Given the description of an element on the screen output the (x, y) to click on. 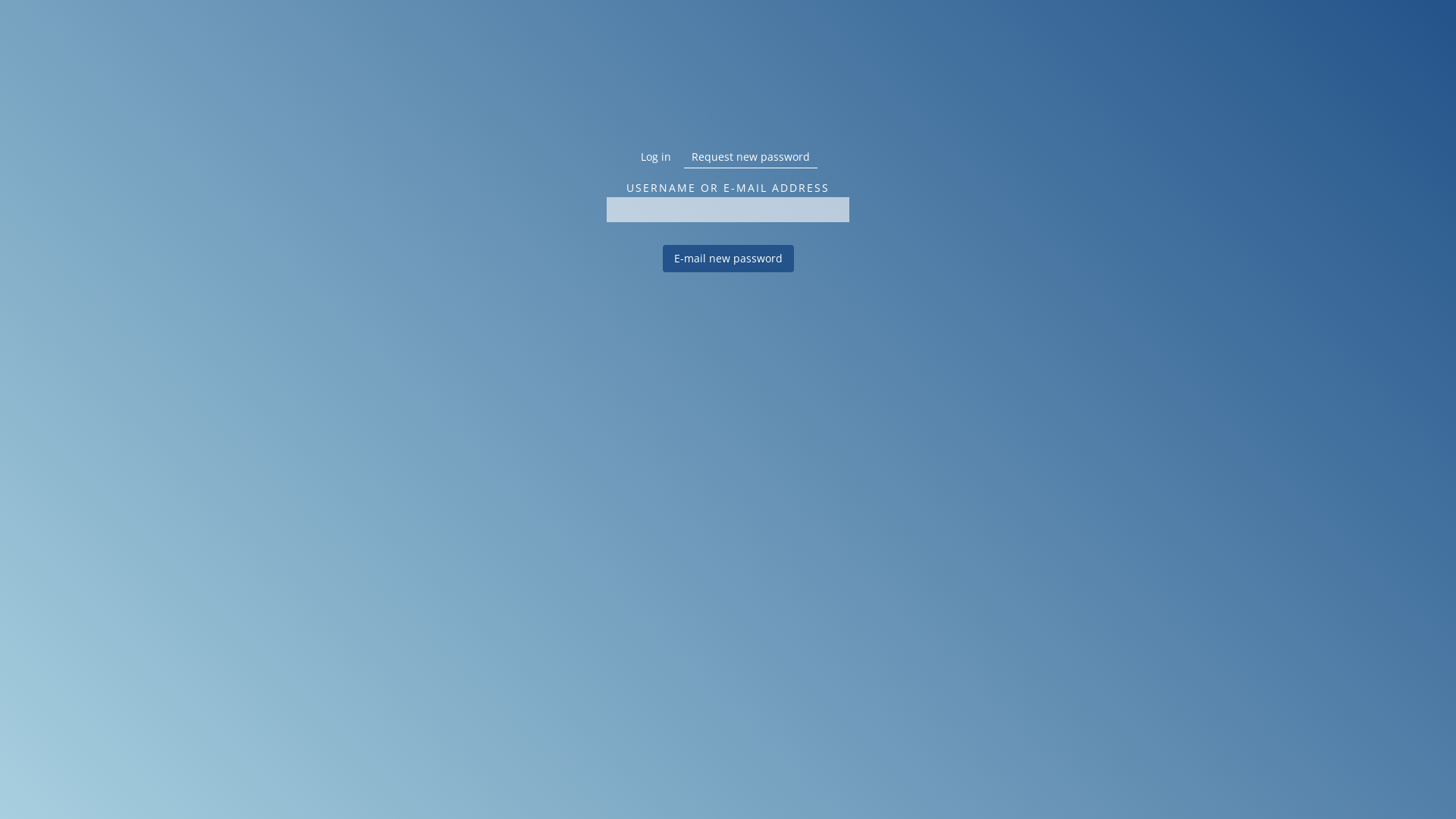
E-mail new password Element type: text (727, 258)
Log in Element type: text (655, 156)
Request new password
(active tab) Element type: text (750, 156)
